Given the description of an element on the screen output the (x, y) to click on. 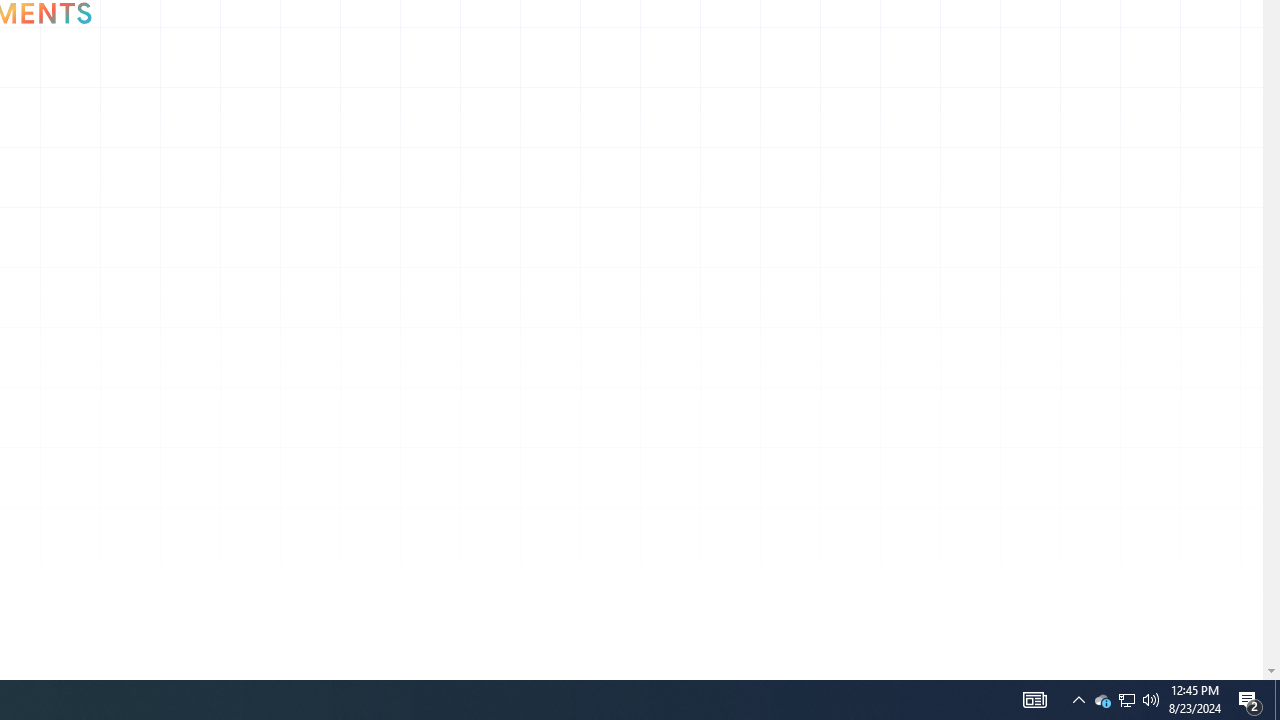
Go to Arts & Culture (140, 103)
